Given the description of an element on the screen output the (x, y) to click on. 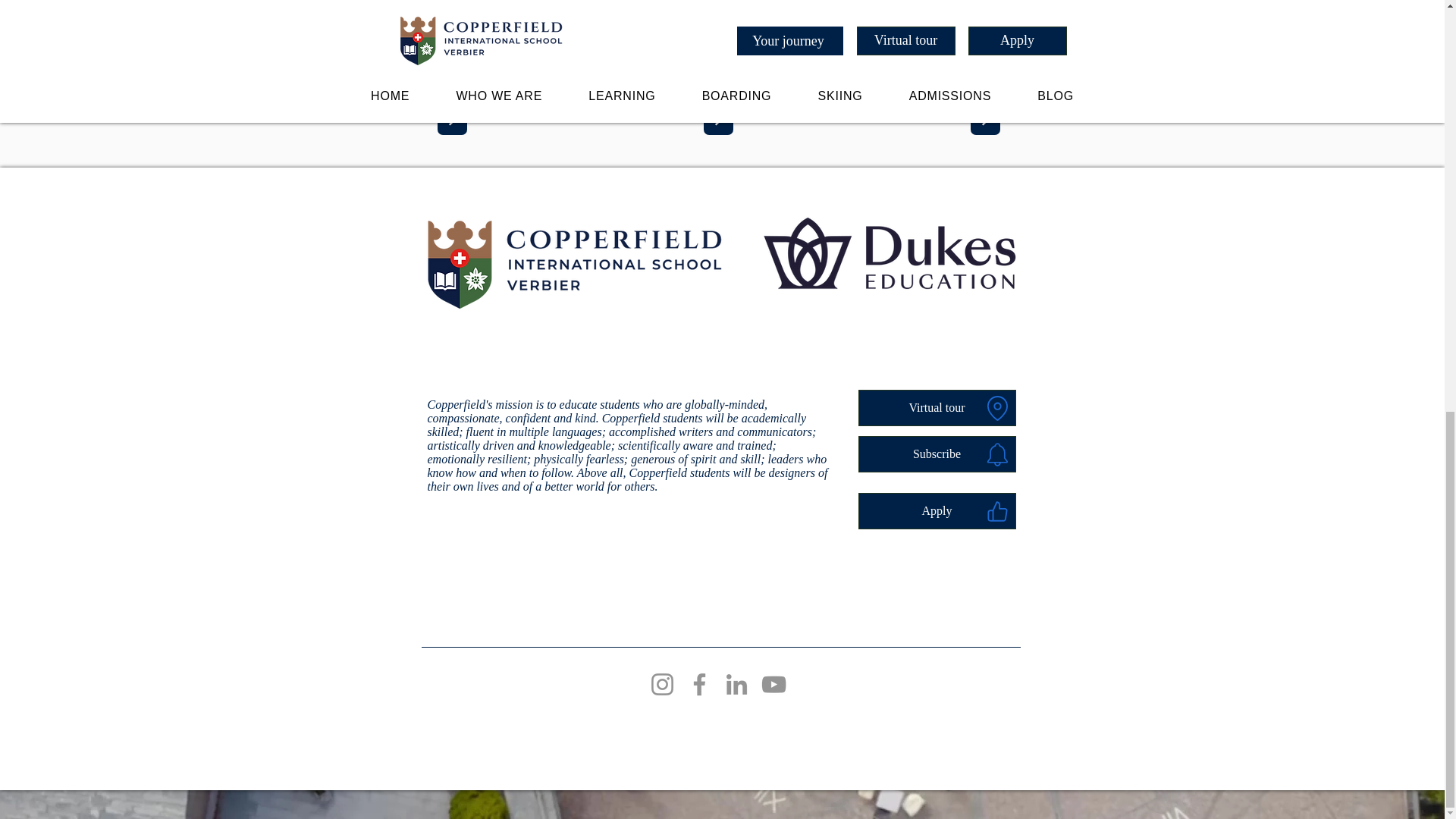
Apply (937, 511)
Subscribe (937, 453)
Virtual tour (937, 407)
